Given the description of an element on the screen output the (x, y) to click on. 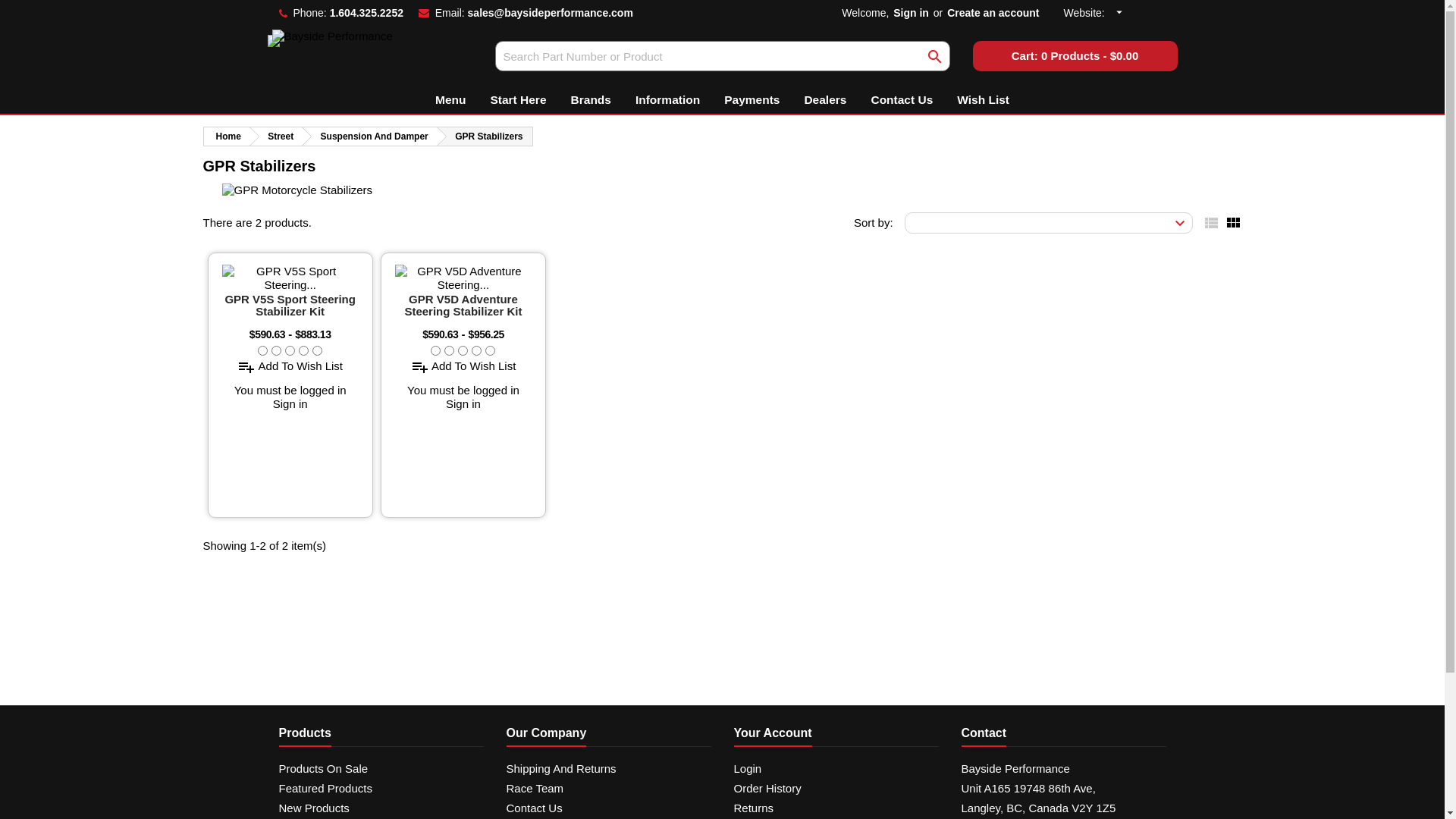
Street Element type: text (276, 136)
Products On Sale Element type: text (323, 768)
Sign in Element type: text (290, 403)
playlist_add Add To Wish List Element type: text (289, 365)
Login Element type: text (748, 768)
Suspension And Damper Element type: text (370, 136)
Contact Us Element type: text (534, 807)
GPR Stabilizers Element type: text (484, 136)
playlist_add Add To Wish List Element type: text (463, 365)
Payments Element type: text (751, 99)
Home Element type: text (225, 136)
Contact Us Element type: text (901, 99)
search Element type: text (934, 55)
Information Element type: text (667, 99)
Cart: 0 Products - $0.00 Element type: text (1074, 55)
Start Here Element type: text (517, 99)
Featured Products Element type: text (325, 787)
Wish List Element type: text (982, 99)
Sign in Element type: text (910, 12)
Create an account Element type: text (992, 12)
Your Account Element type: text (773, 733)
GPR V5S Sport Steering Stabilizer Kit Element type: text (289, 304)
Order History Element type: text (767, 787)
Brands Element type: text (590, 99)
Menu Element type: text (450, 99)
Dealers Element type: text (824, 99)
Sign in Element type: text (462, 403)
Shipping And Returns Element type: text (561, 768)
Contact Element type: text (984, 733)
New Products Element type: text (314, 807)
1.604.325.2252 Element type: text (366, 12)
Returns Element type: text (754, 807)
sales@baysideperformance.com Element type: text (550, 12)
GPR V5D Adventure Steering Stabilizer Kit Element type: text (462, 304)
Race Team Element type: text (535, 787)
